Given the description of an element on the screen output the (x, y) to click on. 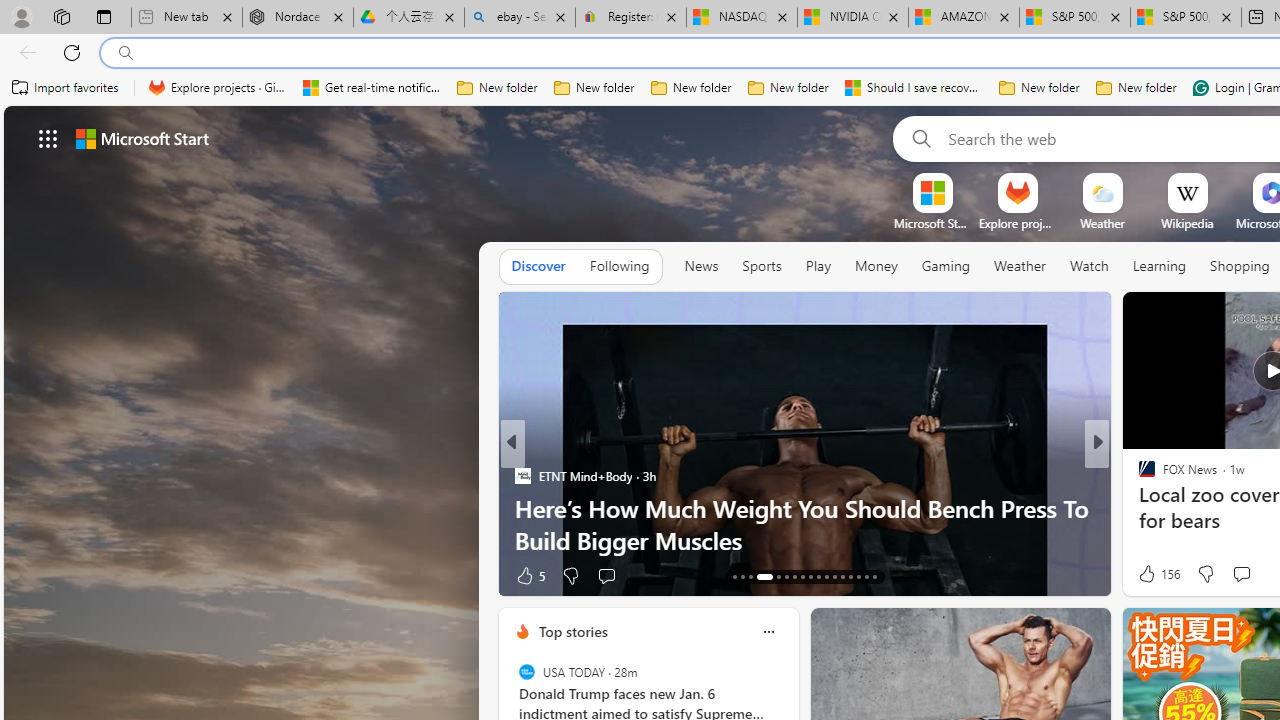
Gaming (945, 267)
347 Like (1151, 574)
Weather (1019, 267)
11 Like (1149, 574)
Weather (1020, 265)
Play (817, 265)
Animals Around The Globe (US) (1138, 507)
View comments 75 Comment (1234, 575)
AutomationID: tab-21 (810, 576)
Microsoft start (142, 138)
Top stories (572, 631)
